Given the description of an element on the screen output the (x, y) to click on. 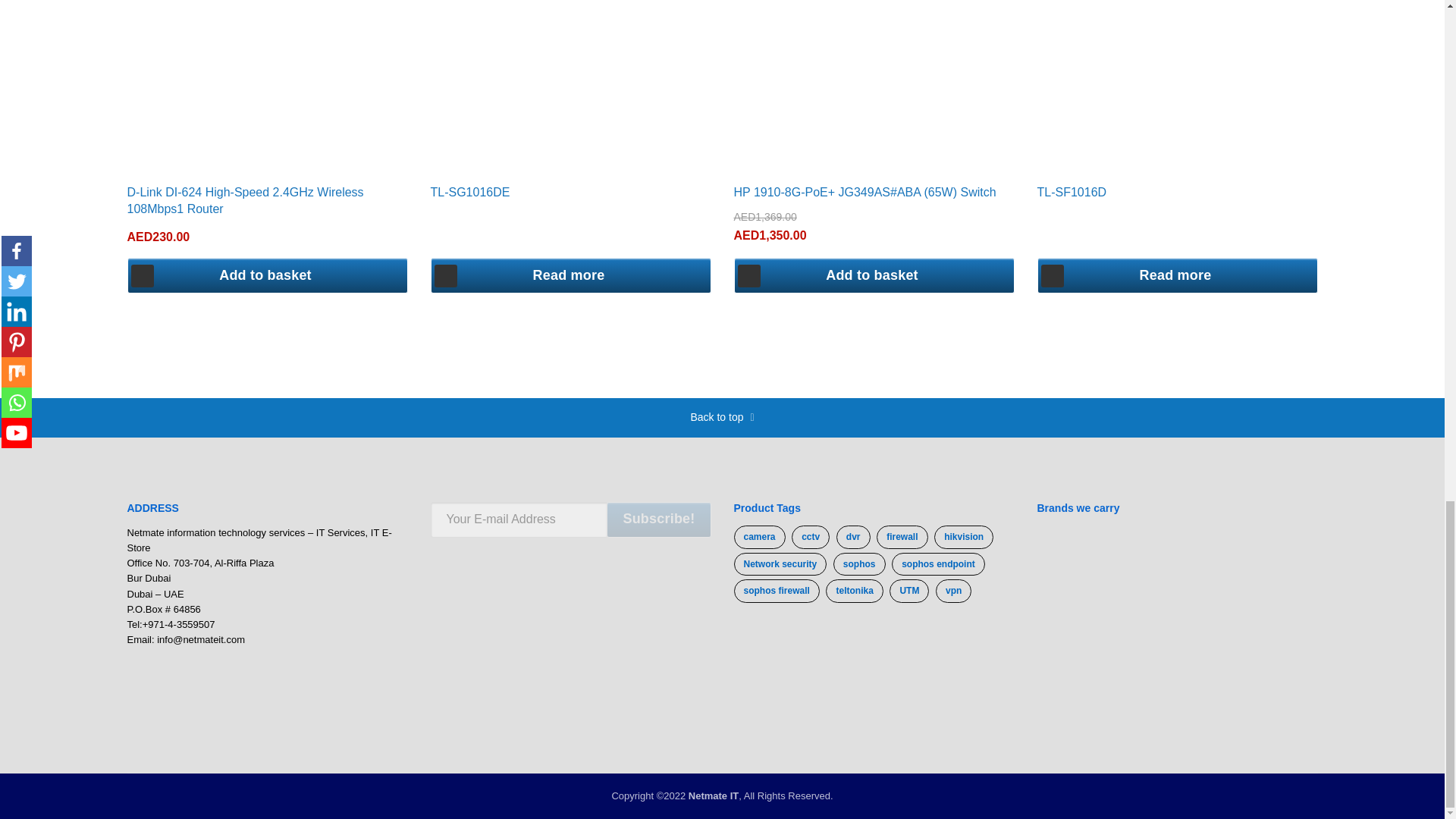
Subscribe! (658, 519)
